Given the description of an element on the screen output the (x, y) to click on. 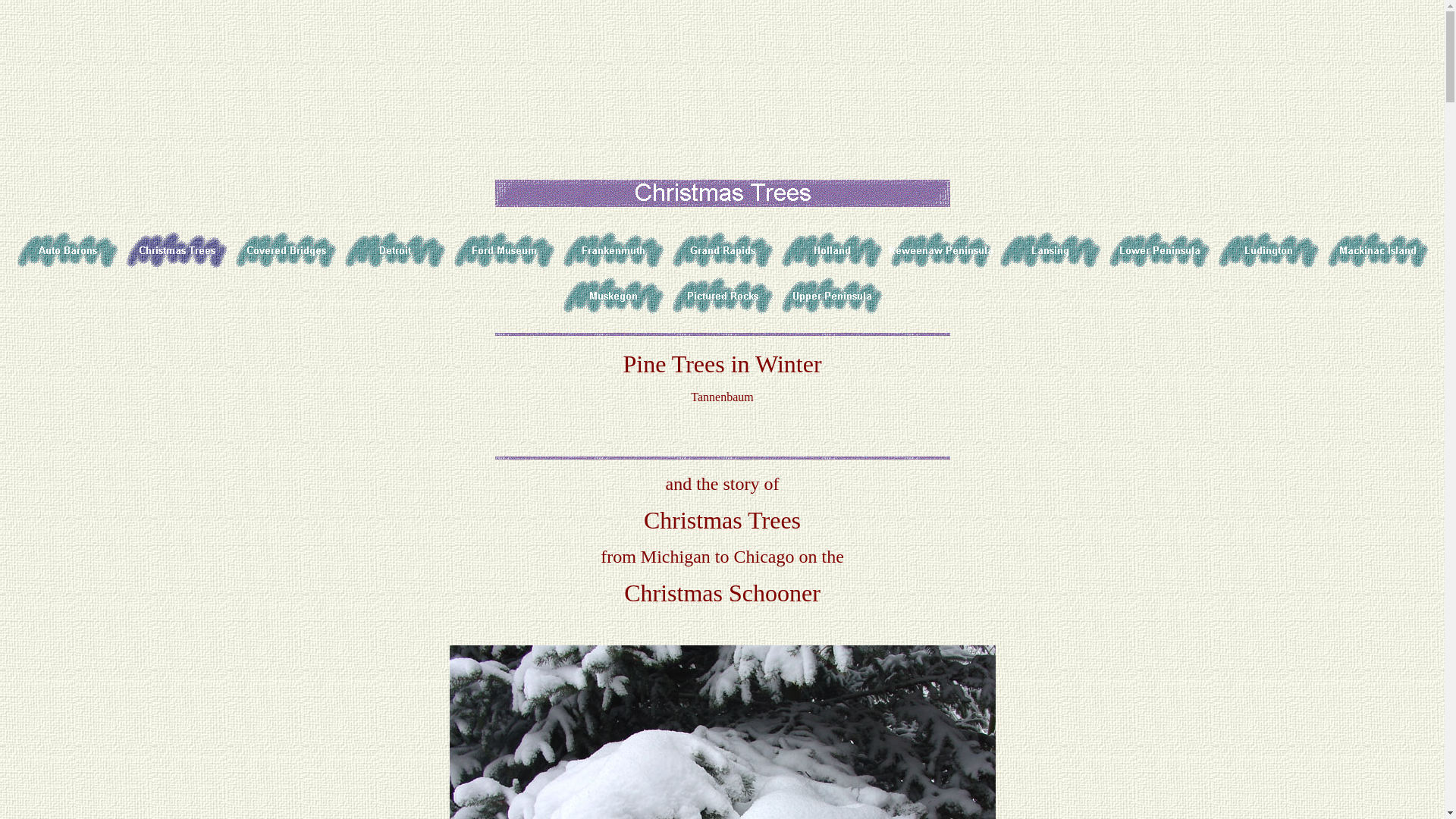
Advertisement (281, 123)
